Given the description of an element on the screen output the (x, y) to click on. 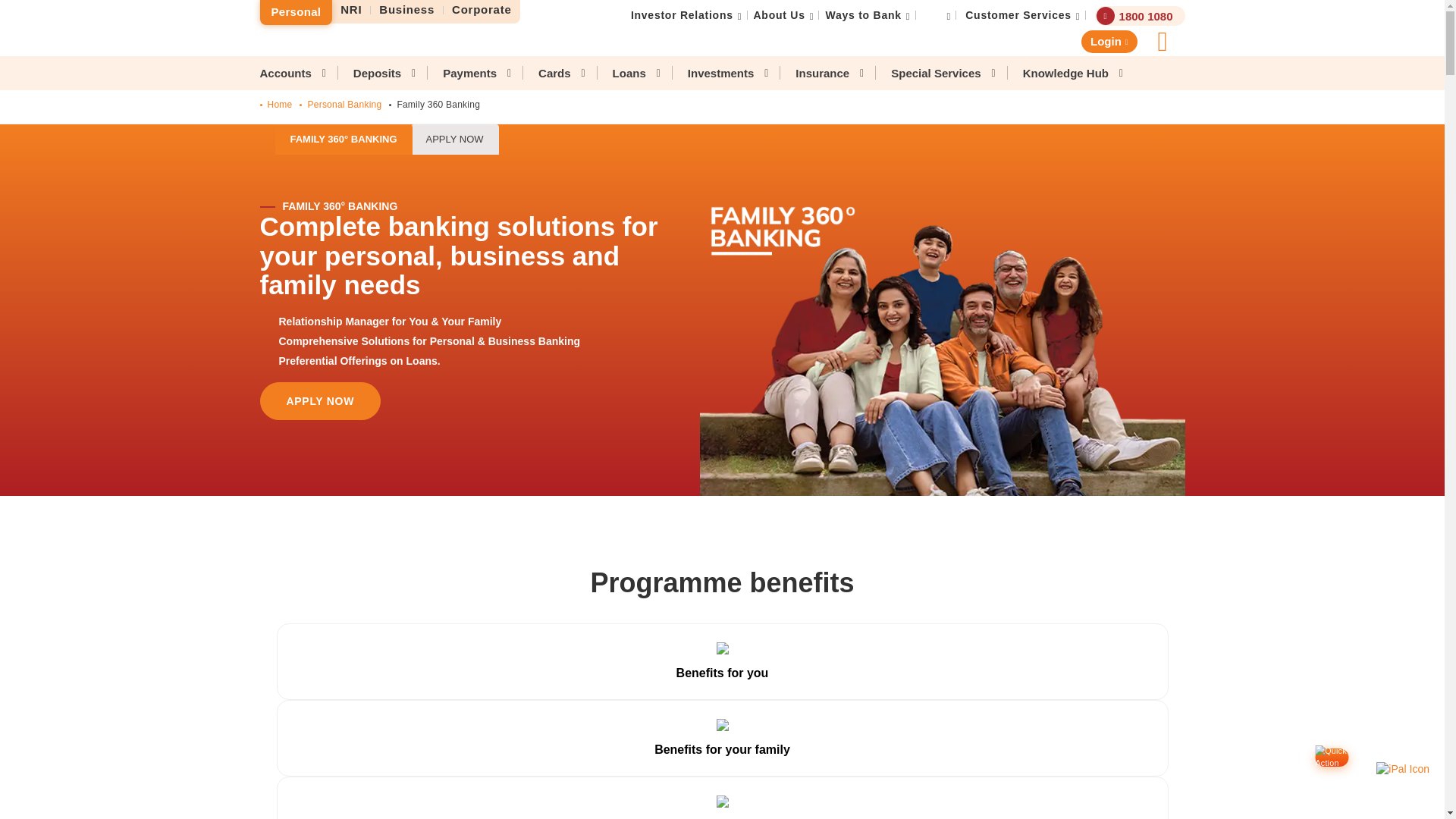
Corporate (481, 9)
NRI (351, 9)
Investor Relations (681, 15)
Business (407, 9)
Ways to Bank (863, 15)
About Us (779, 15)
Personal (295, 12)
Customer Services (1018, 15)
